Given the description of an element on the screen output the (x, y) to click on. 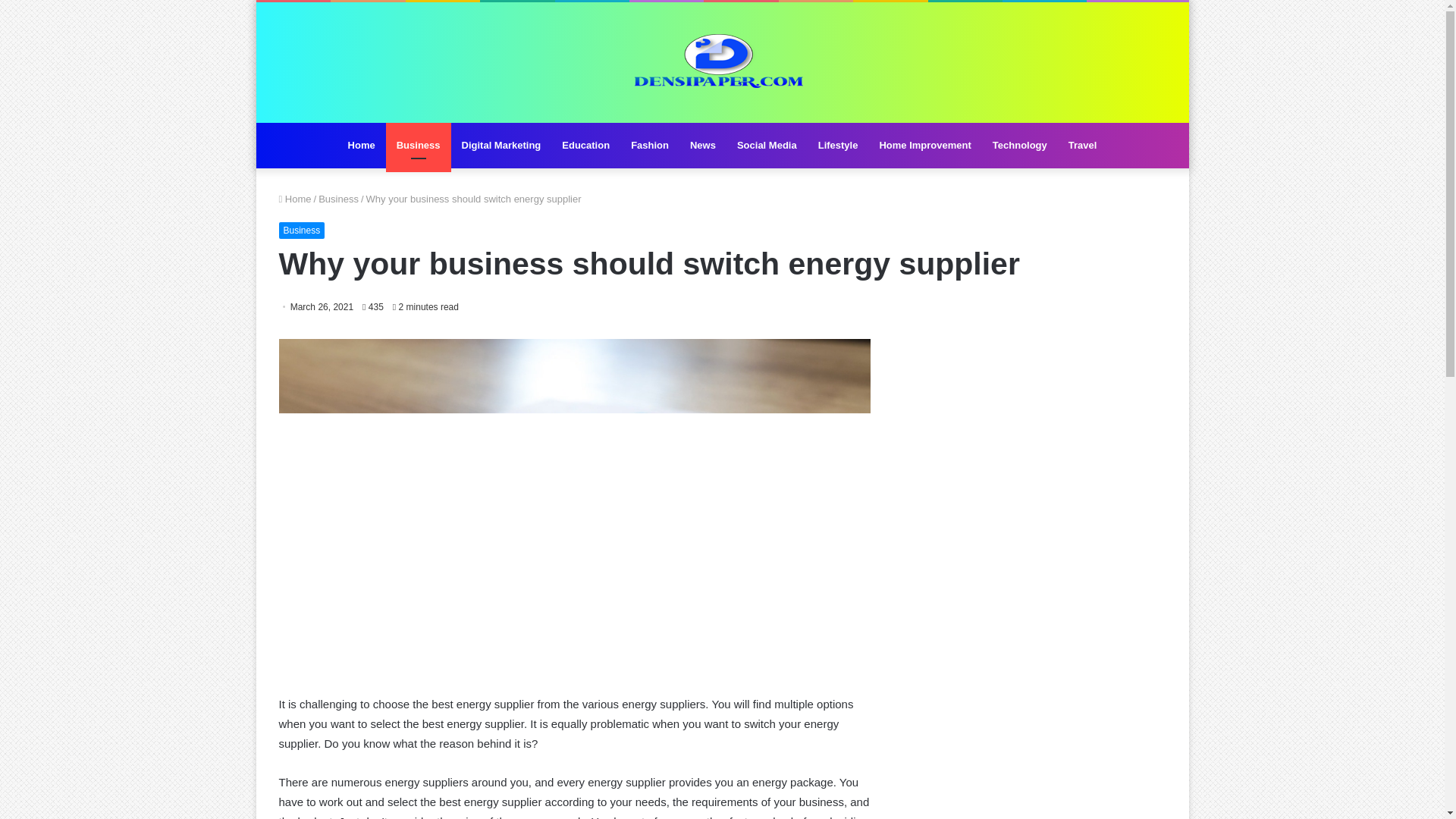
Home (361, 145)
News (702, 145)
Business (418, 145)
Densipaper (721, 62)
Home (295, 198)
Technology (1019, 145)
Business (301, 230)
Fashion (649, 145)
Lifestyle (838, 145)
Home Improvement (924, 145)
